Given the description of an element on the screen output the (x, y) to click on. 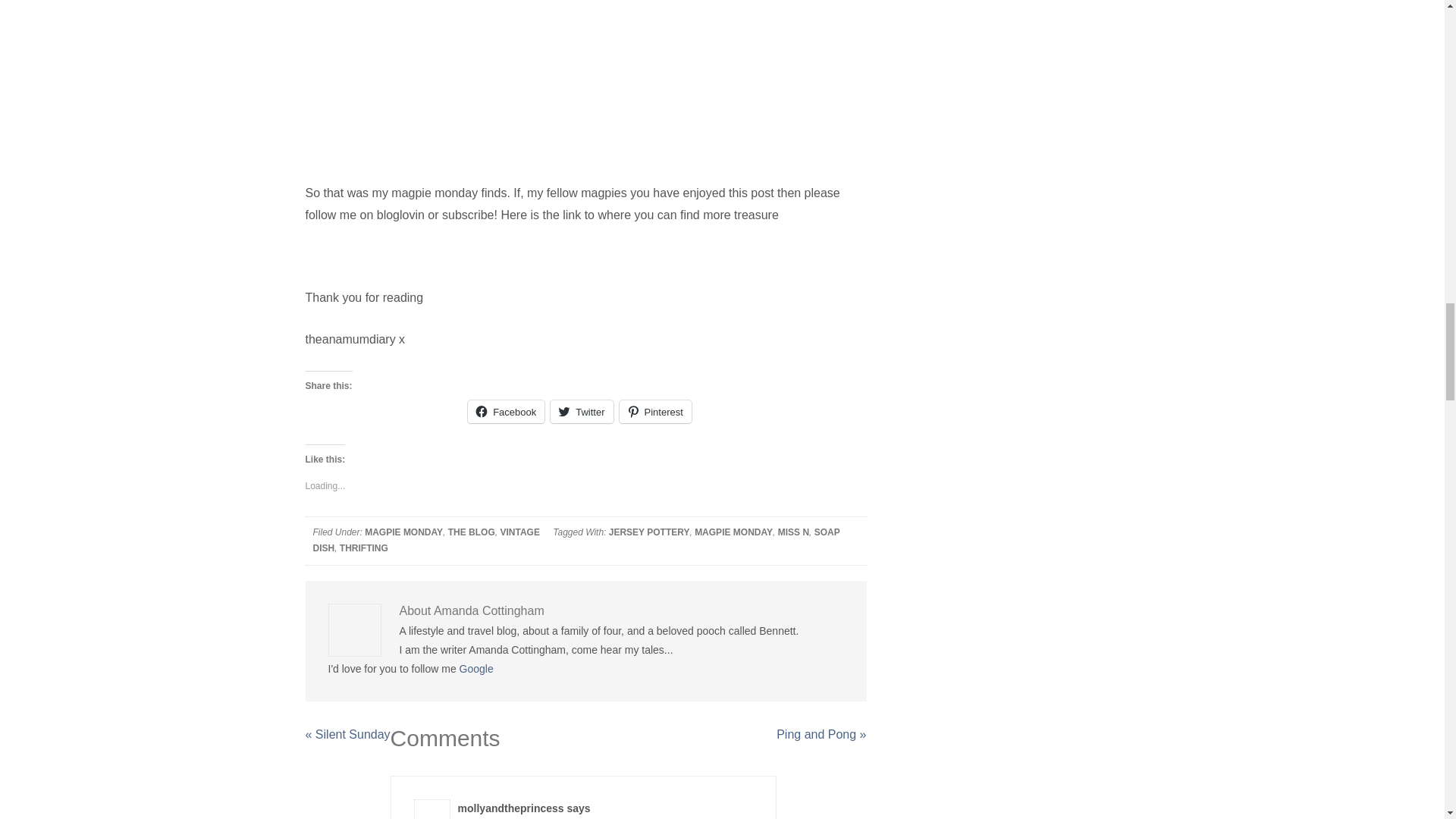
Click to share on Twitter (581, 411)
Twitter (581, 411)
Facebook (505, 411)
VINTAGE (518, 532)
Click to share on Facebook (505, 411)
THE BLOG (471, 532)
MAGPIE MONDAY (403, 532)
Pinterest (655, 411)
Click to share on Pinterest (655, 411)
DSCF2775 (585, 71)
